Given the description of an element on the screen output the (x, y) to click on. 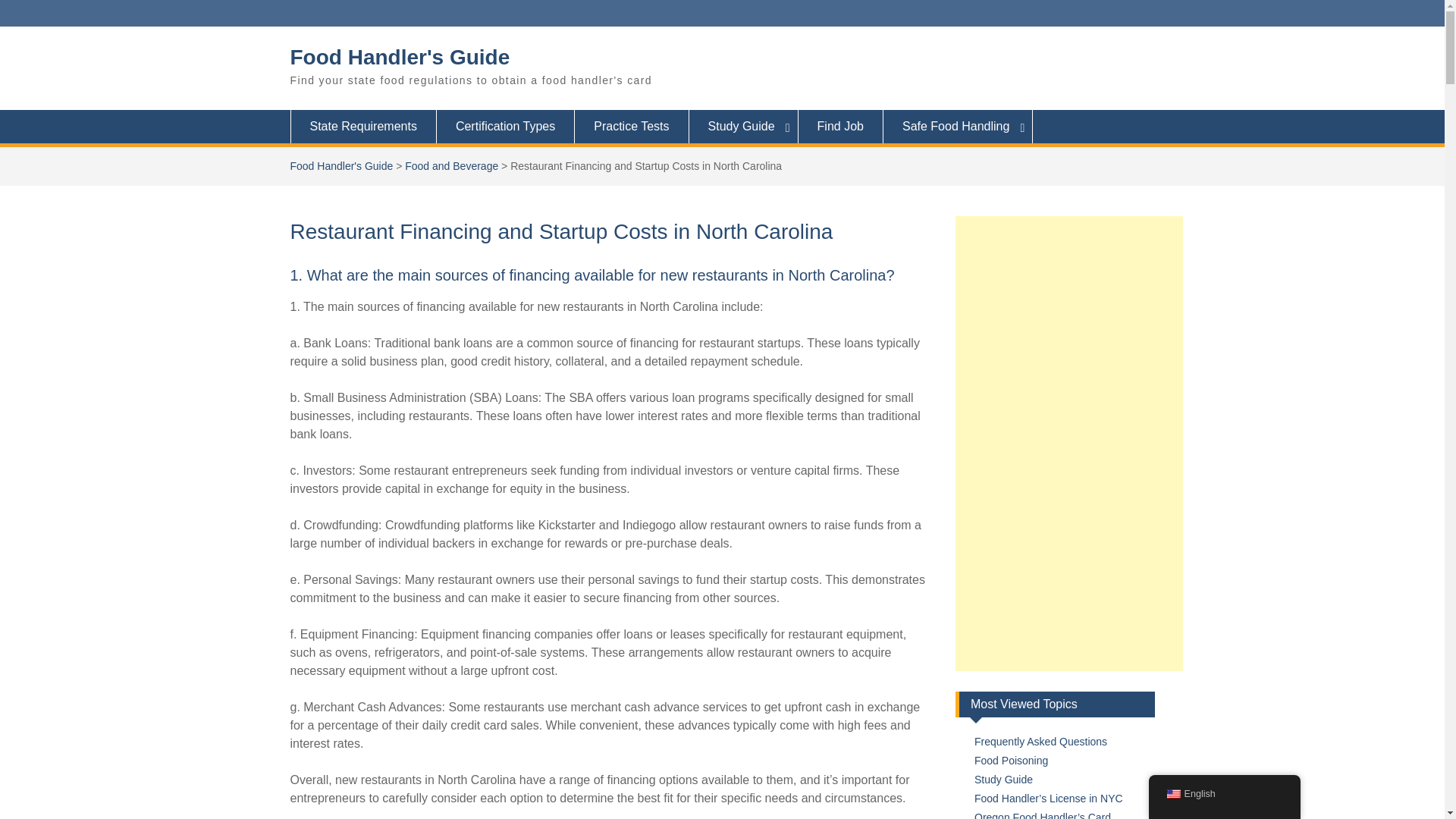
Certification Types (505, 126)
Frequently Asked Questions (1040, 741)
Practice Tests (631, 126)
Food Handler's Guide (341, 165)
Study Guide (742, 126)
State Requirements (362, 126)
Food Handler's Guide (399, 56)
Find Job (840, 126)
Food and Beverage (450, 165)
Safe Food Handling (957, 126)
